Given the description of an element on the screen output the (x, y) to click on. 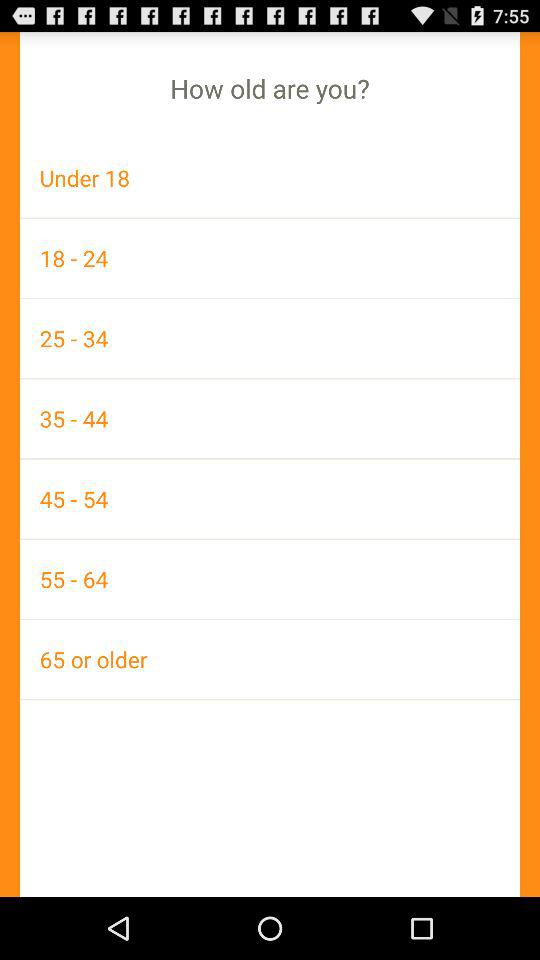
scroll to the 65 or older app (269, 659)
